Given the description of an element on the screen output the (x, y) to click on. 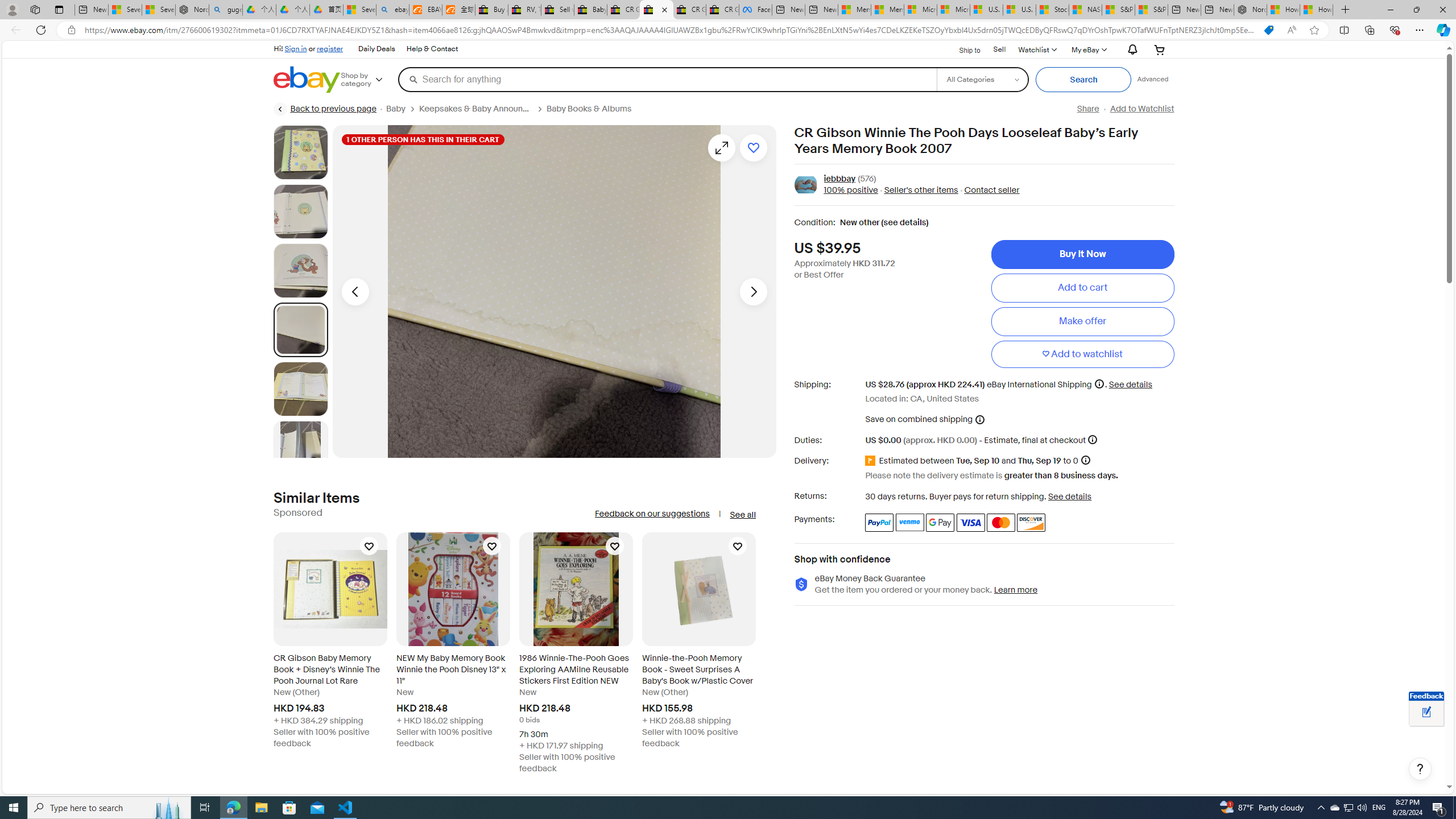
Buy Auto Parts & Accessories | eBay (491, 9)
RV, Trailer & Camper Steps & Ladders for sale | eBay (524, 9)
Seller's other items (920, 190)
